Given the description of an element on the screen output the (x, y) to click on. 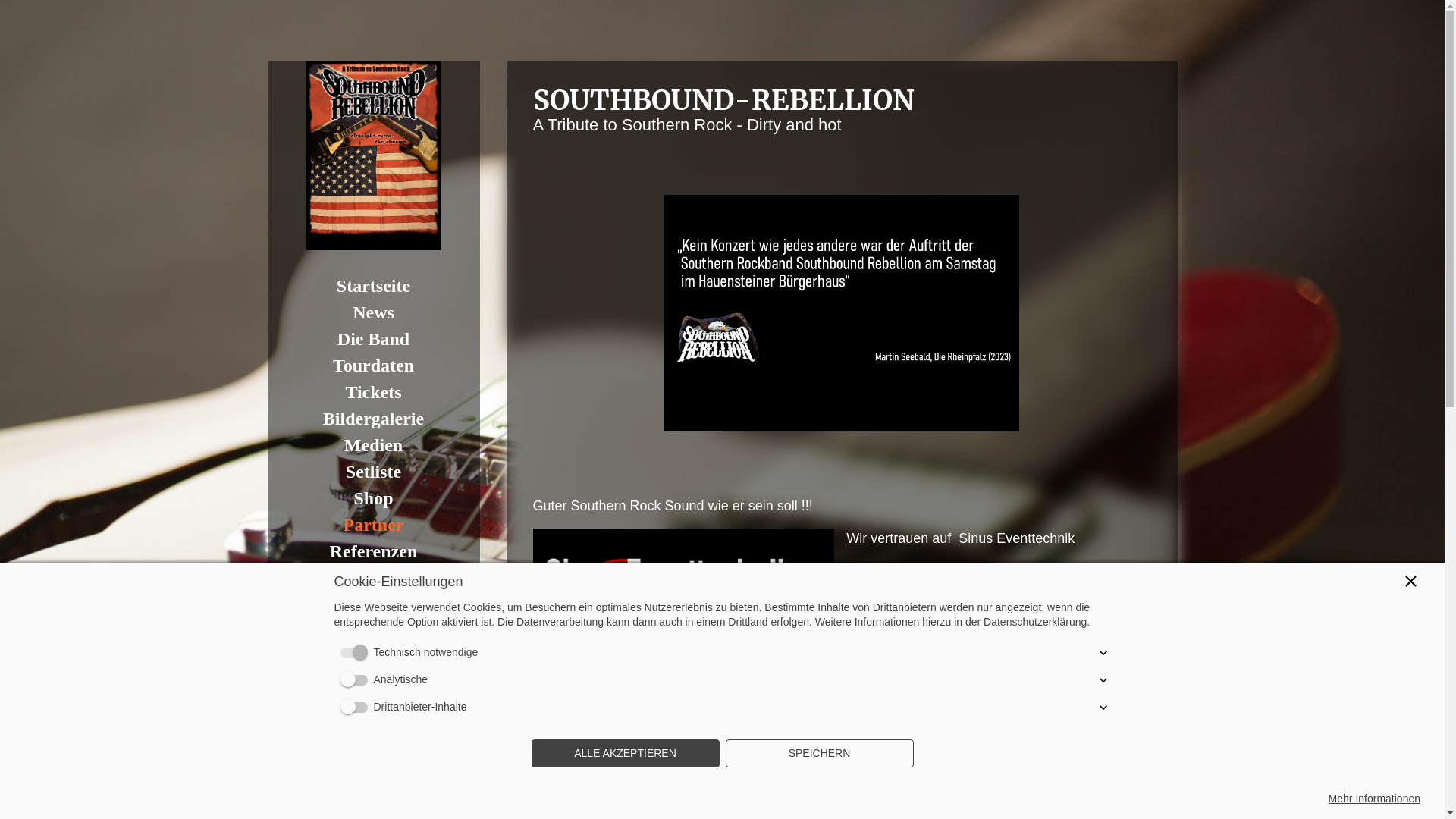
Tickets Element type: text (372, 392)
ALLE AKZEPTIEREN Element type: text (624, 753)
Bildergalerie Element type: text (372, 418)
Kontakt Element type: text (372, 577)
SPEICHERN Element type: text (818, 753)
Partner Element type: text (372, 524)
Medien Element type: text (372, 445)
Startseite Element type: text (372, 286)
Die Band Element type: text (372, 339)
Shop Element type: text (372, 498)
Tourdaten Element type: text (372, 365)
Mehr Informationen Element type: text (1374, 798)
Veranstalter Element type: text (372, 604)
Impressum Element type: text (372, 631)
Setliste Element type: text (372, 471)
Referenzen Element type: text (372, 551)
News Element type: text (372, 312)
